Given the description of an element on the screen output the (x, y) to click on. 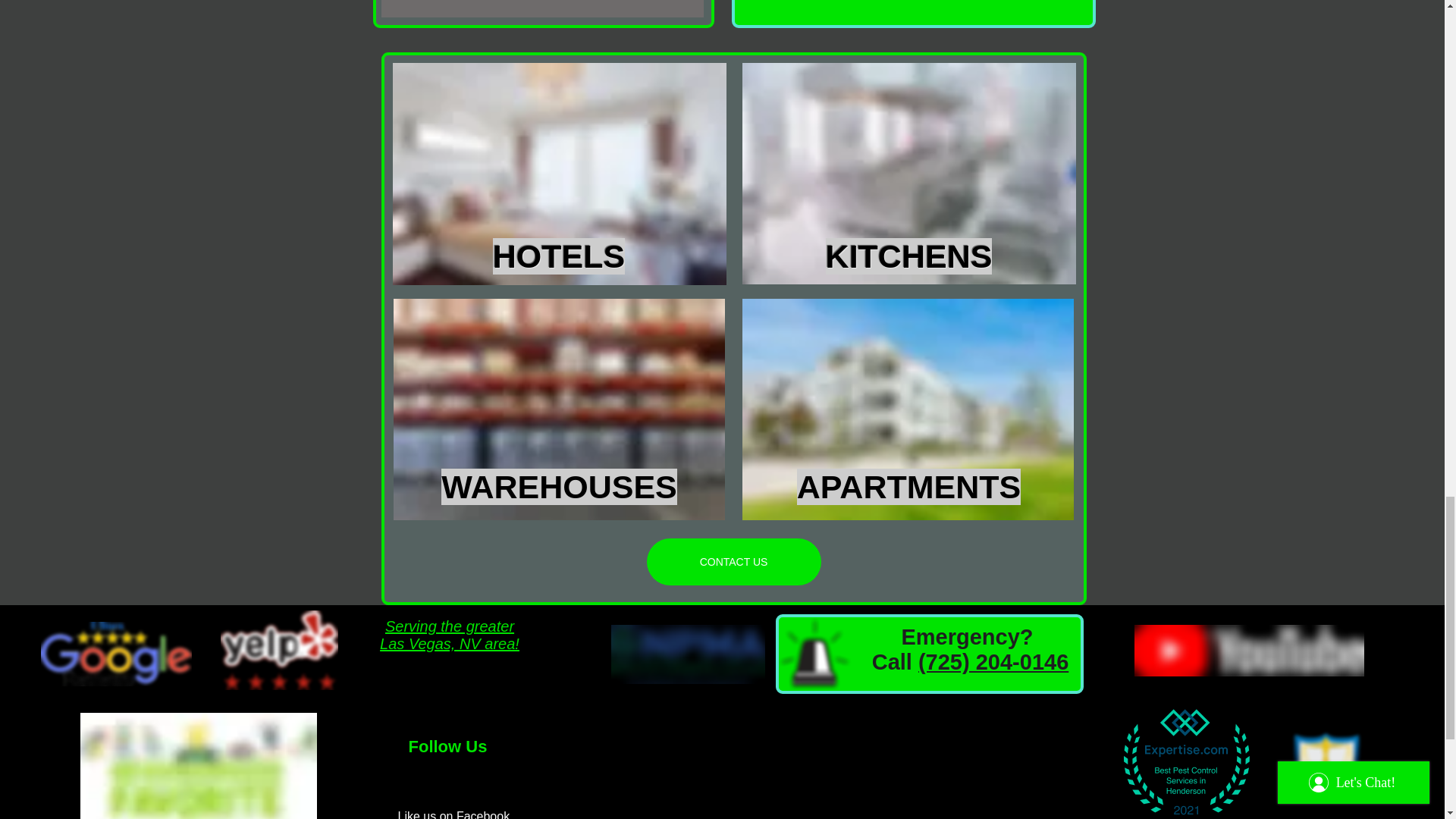
Embedded Content (1182, 757)
Serving the greater Las Vegas, NV area! (449, 634)
Like us on Facebook (453, 814)
CONTACT US (733, 561)
